Given the description of an element on the screen output the (x, y) to click on. 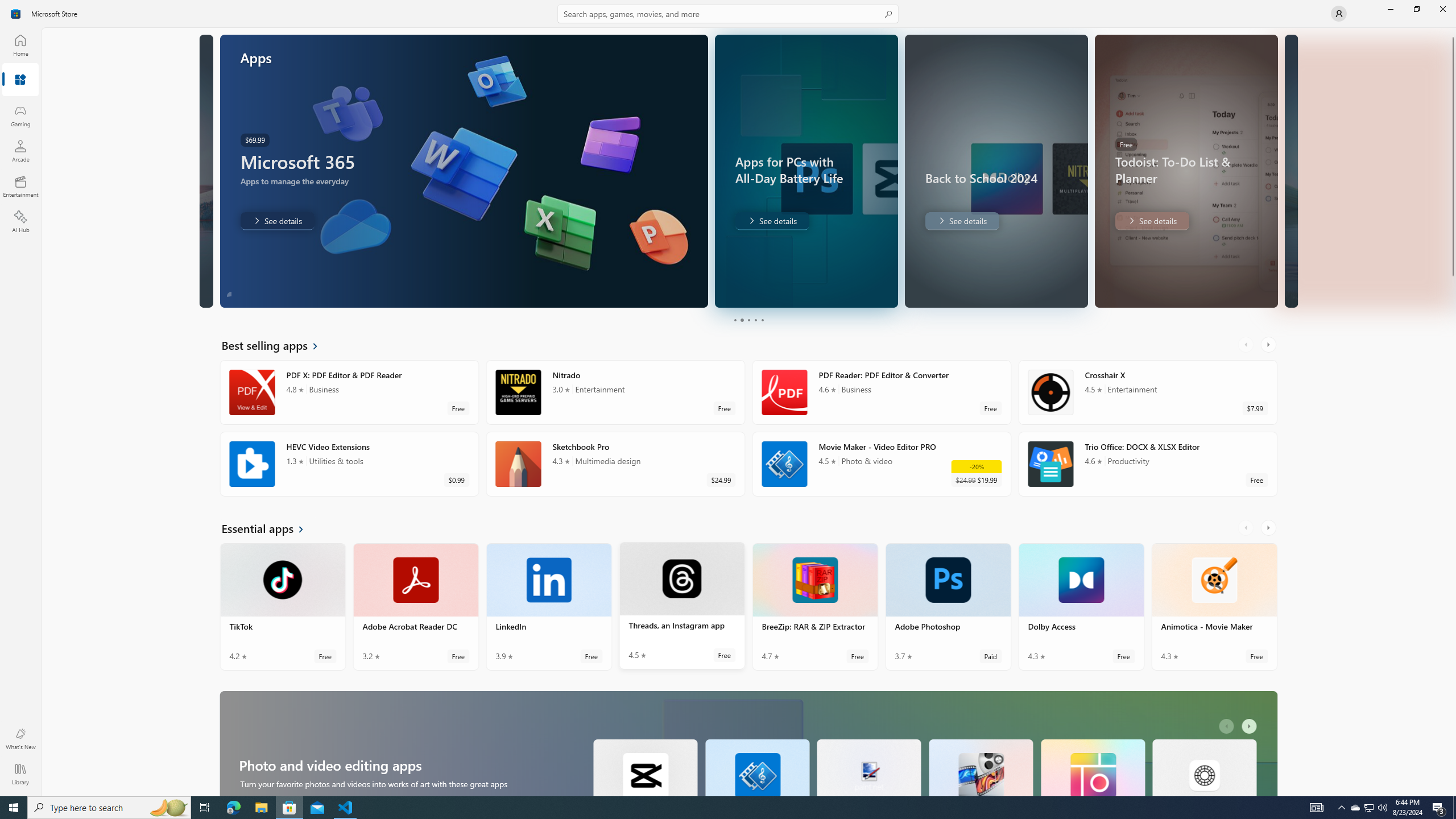
Nebo. Average rating of 4.1 out of five stars. $9.99   (548, 669)
Vertical (1452, 412)
ibis Paint. Average rating of 3.9 out of five stars. Free   (415, 311)
Close Microsoft Store (1442, 9)
Vertical Small Increase (1452, 792)
User profile (1338, 13)
Discord. Average rating of 4.2 out of five stars. Free   (881, 454)
See all  Top free apps (268, 407)
WhatsApp. Average rating of 4.3 out of five stars. Free   (349, 526)
Vertical Small Decrease (1452, 31)
See all  Productivity apps (277, 590)
